Given the description of an element on the screen output the (x, y) to click on. 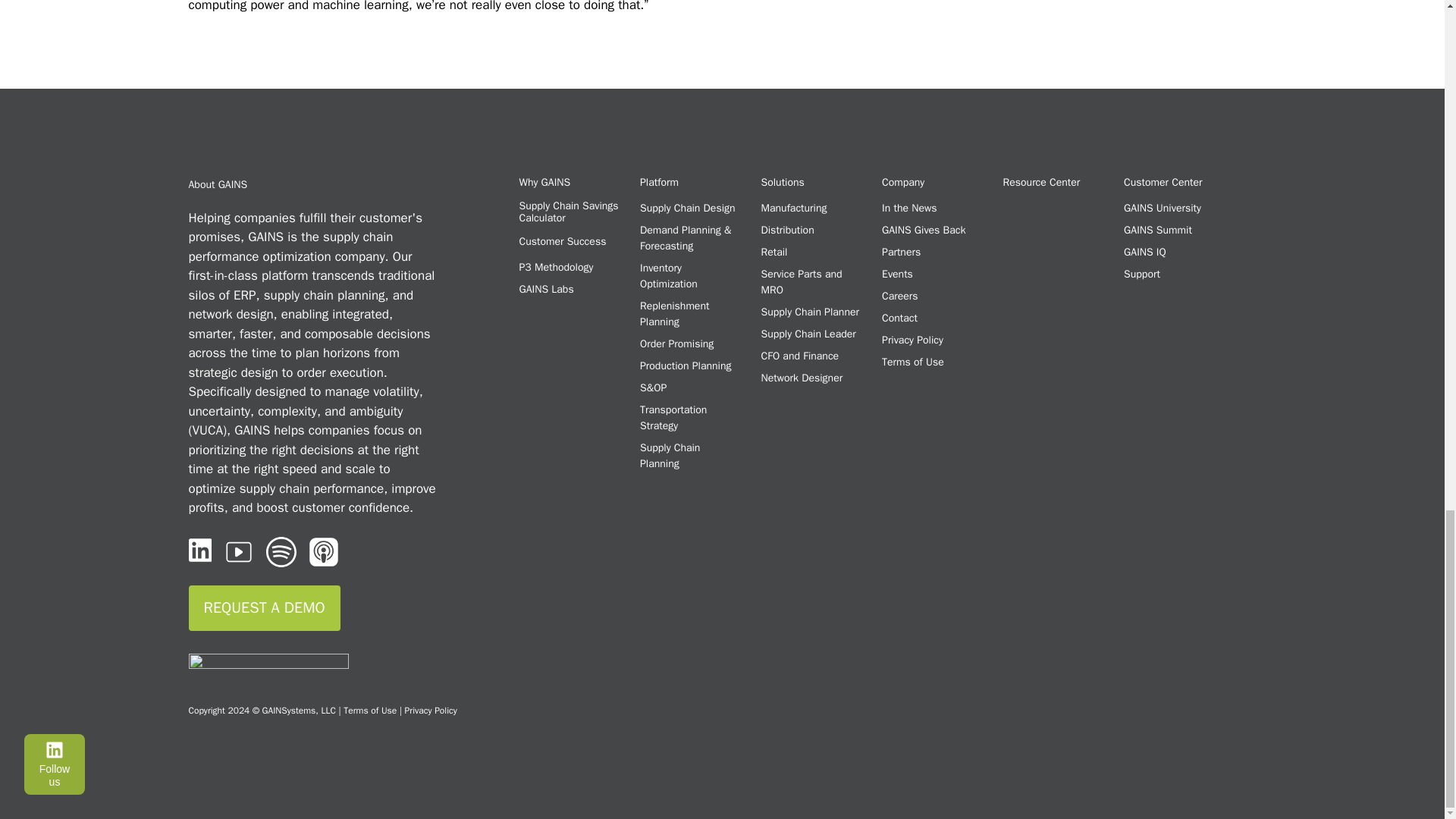
applepodcasts (323, 552)
GAINS logo-all-white (267, 669)
